Given the description of an element on the screen output the (x, y) to click on. 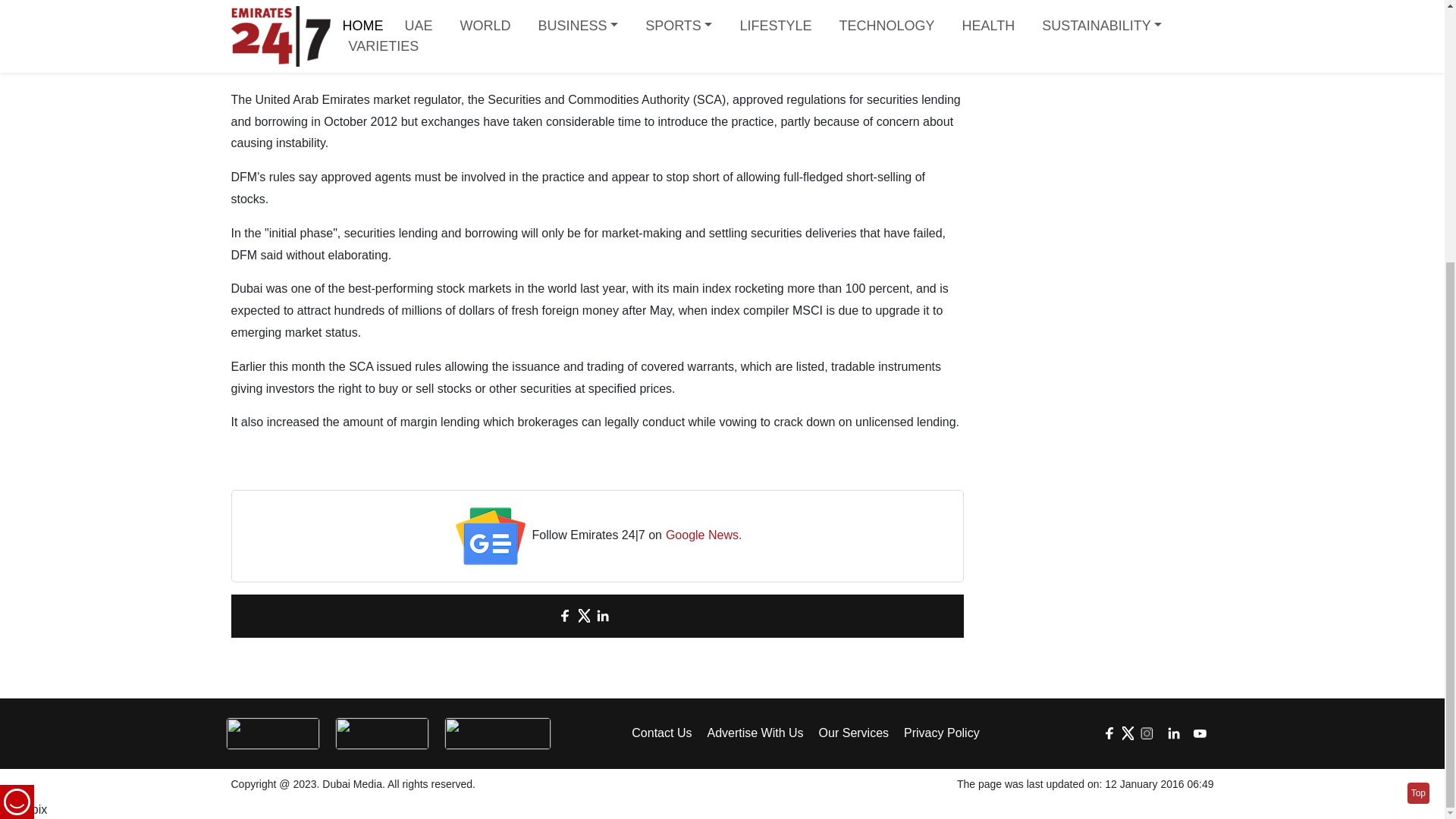
Google News. (703, 535)
Go to top (1418, 415)
